Given the description of an element on the screen output the (x, y) to click on. 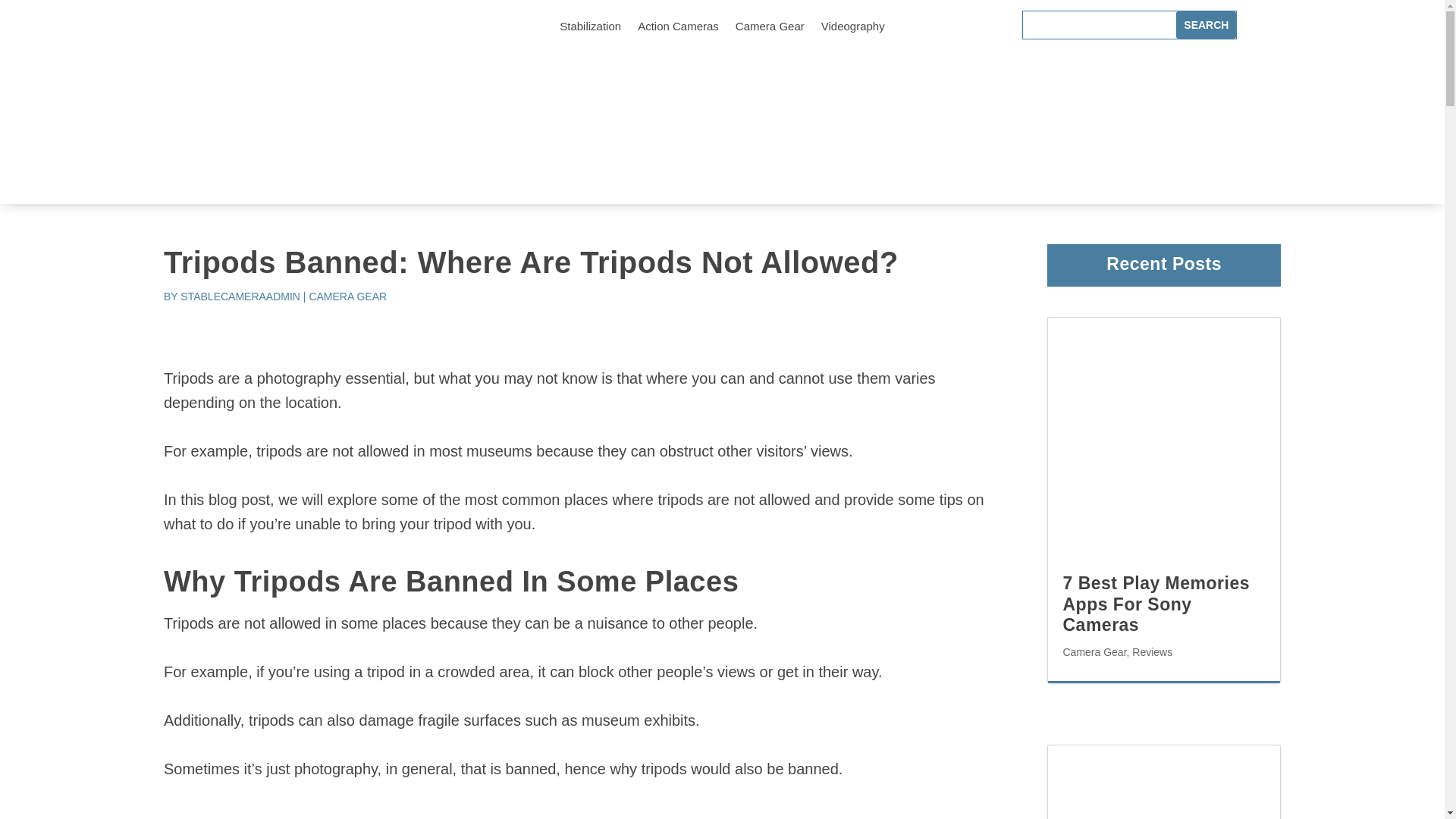
Action Cameras (678, 29)
StableCamera Horizontal e1649900270669 (302, 104)
Reviews (1152, 652)
Camera Gear (1093, 652)
Posts by StableCameraAdmin (239, 296)
Search (1206, 24)
CAMERA GEAR (347, 296)
Camera Gear (770, 29)
7 Best Play Memories Apps For Sony Cameras (1155, 603)
STABLECAMERAADMIN (239, 296)
Stabilization (590, 29)
Videography (853, 29)
Search (1206, 24)
Search (1206, 24)
